Given the description of an element on the screen output the (x, y) to click on. 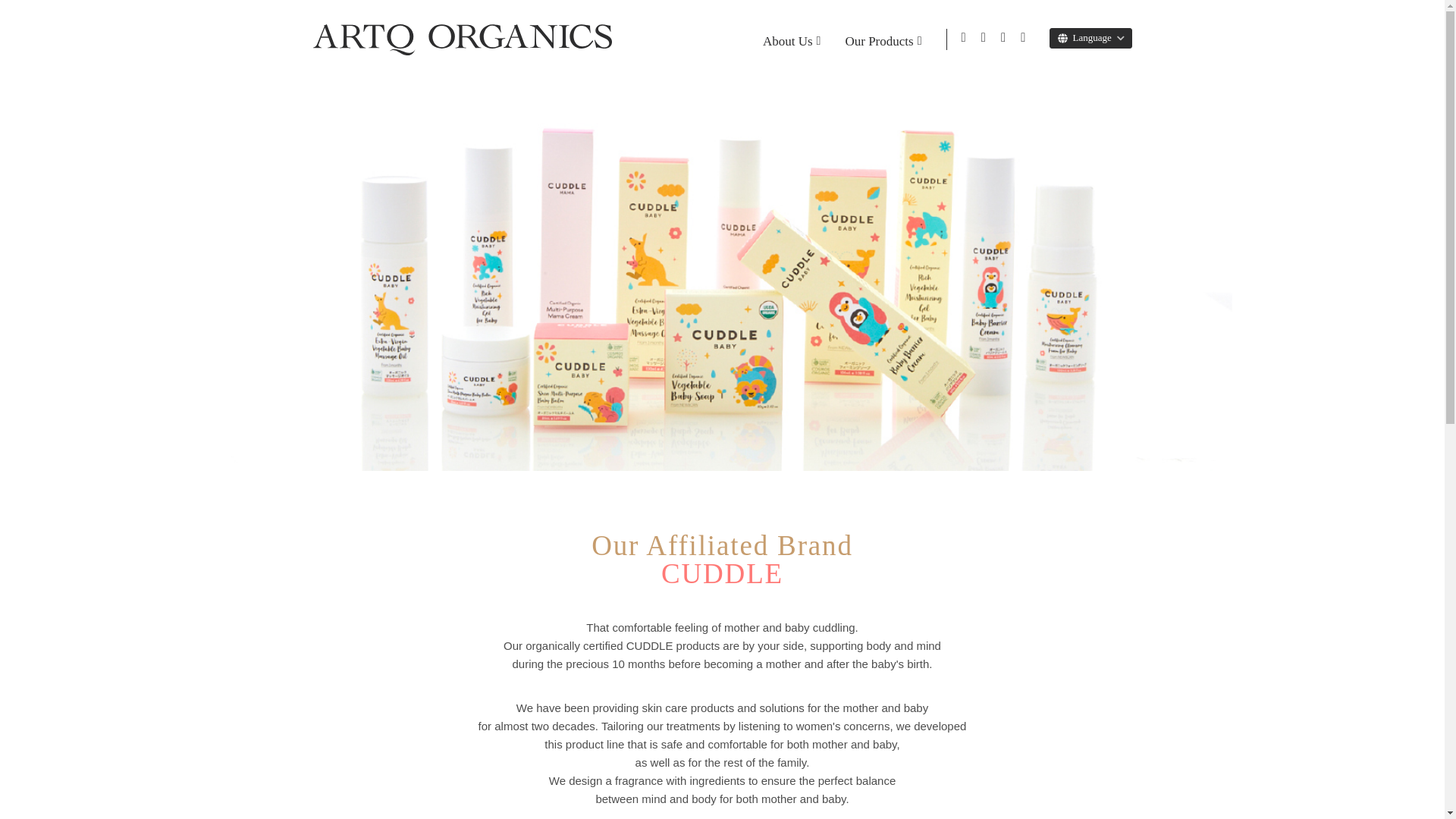
ARTQ ORGANICS (462, 39)
Our Products (882, 38)
About Us (791, 38)
